Given the description of an element on the screen output the (x, y) to click on. 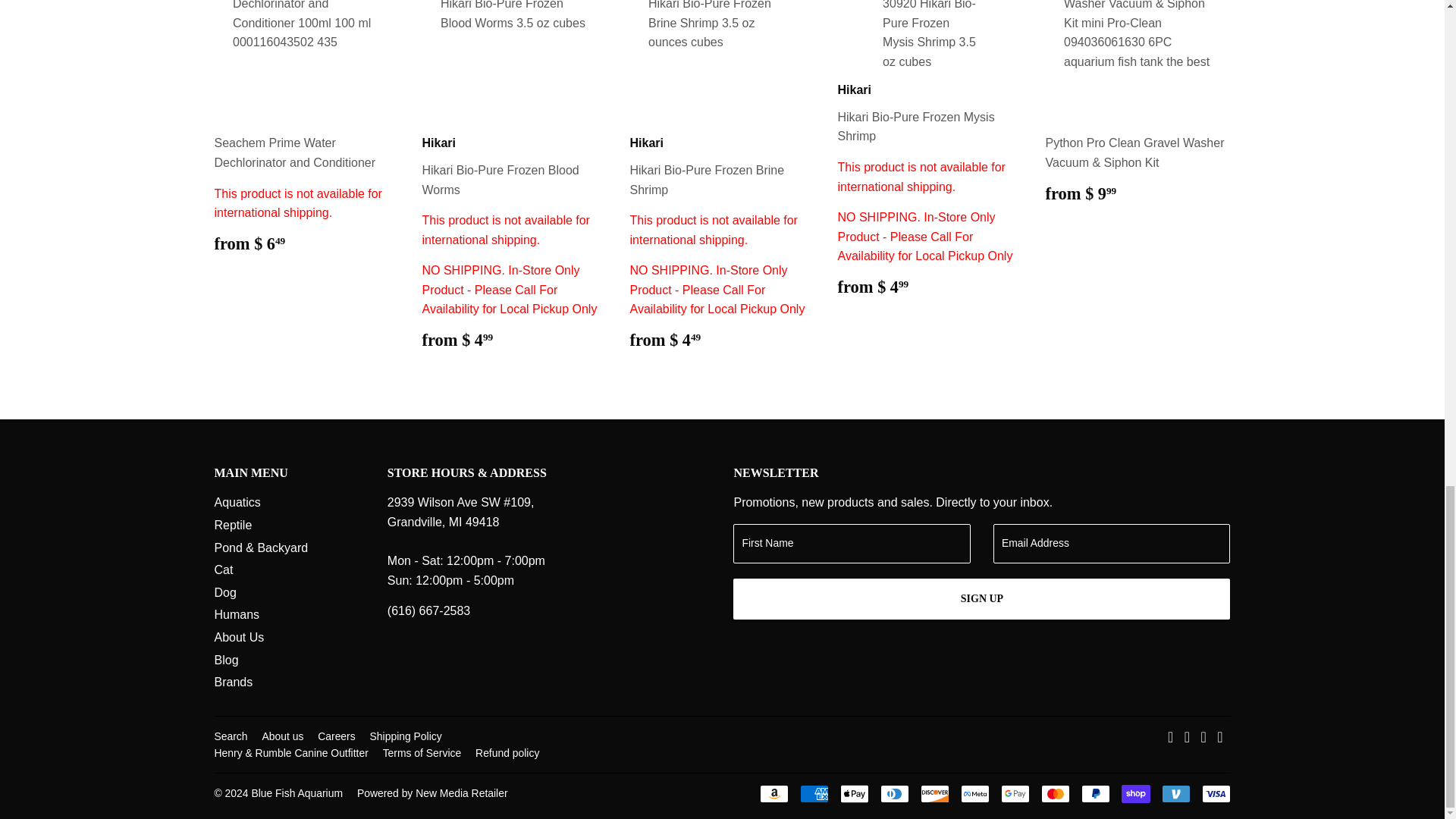
Shop Pay (1135, 793)
Visa (1215, 793)
Amazon (774, 793)
American Express (813, 793)
Diners Club (893, 793)
Apple Pay (854, 793)
Mastercard (1054, 793)
Google Pay (1015, 793)
Discover (934, 793)
New Media Retailer (432, 793)
PayPal (1095, 793)
Meta Pay (973, 793)
Venmo (1176, 793)
